Given the description of an element on the screen output the (x, y) to click on. 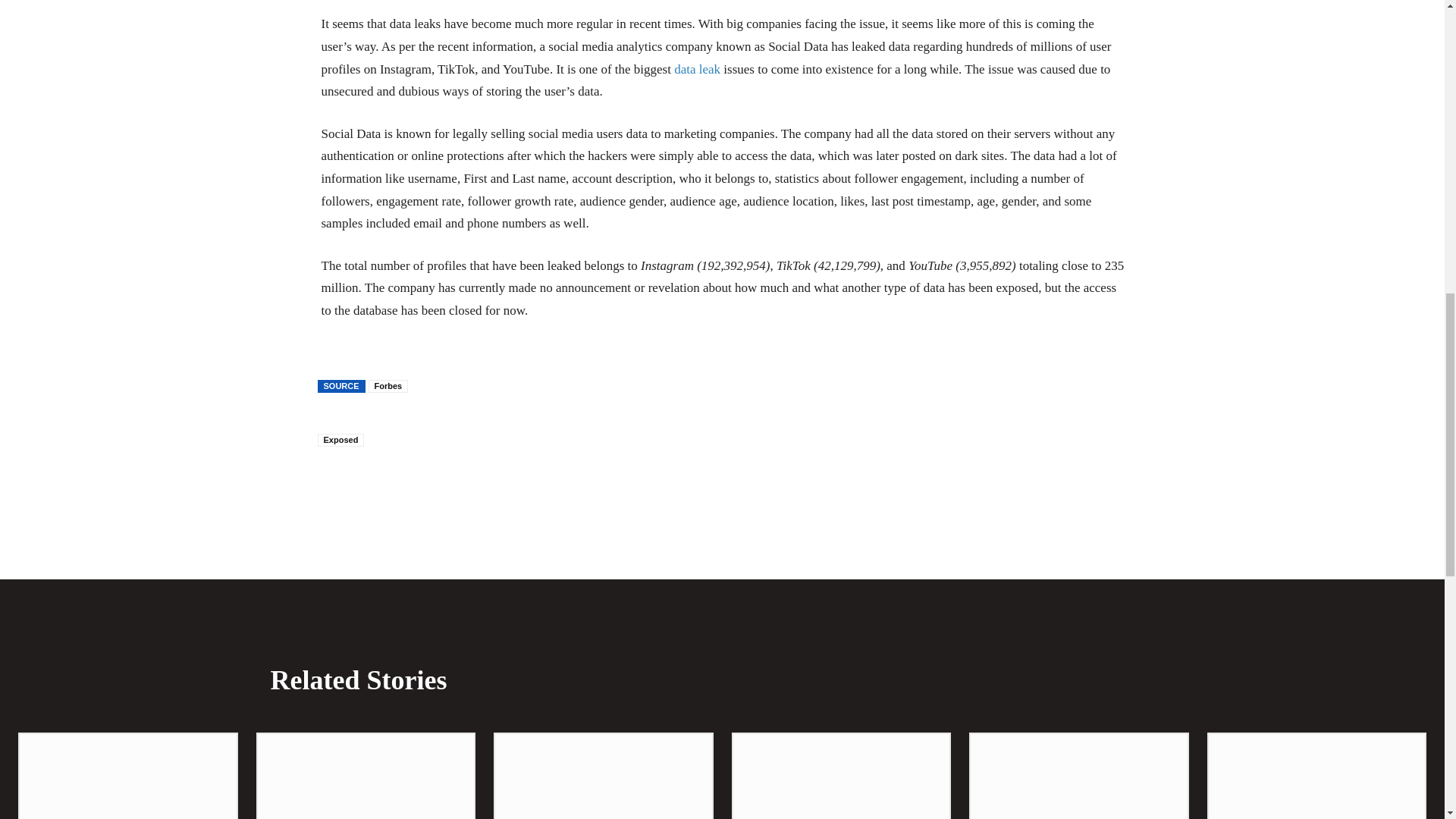
Red Magic 9 Pro: Unleashing Next-Level Gaming Globally (603, 776)
Meta-Owned WhatsApp Overcomes Severe Service Interruption (1316, 776)
